Given the description of an element on the screen output the (x, y) to click on. 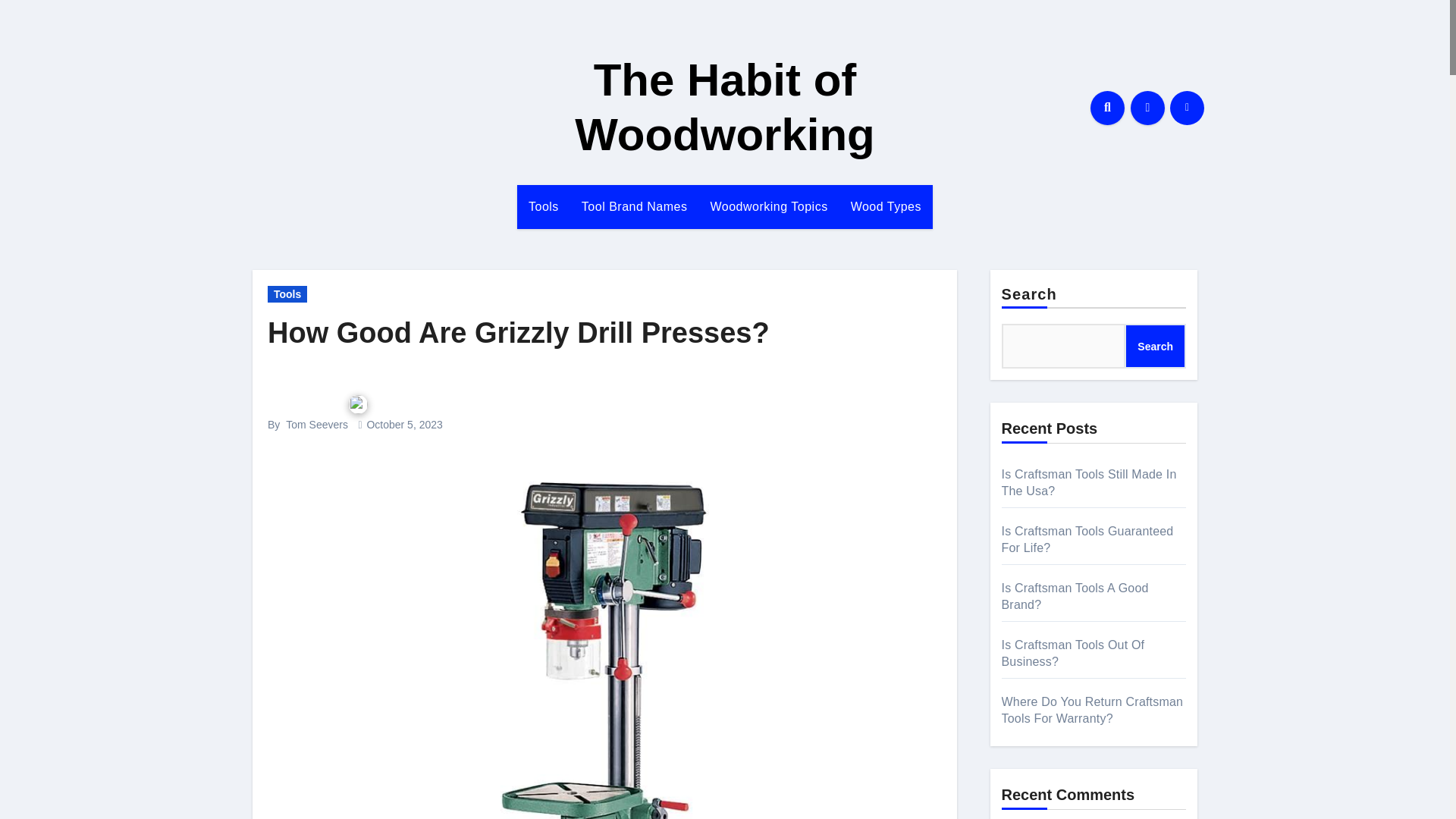
Tools (287, 293)
October 5, 2023 (404, 424)
Woodworking Topics (768, 207)
Wood Types (886, 207)
Woodworking Topics (768, 207)
Tools (543, 207)
Permalink to: How Good Are Grizzly Drill Presses? (518, 332)
The Habit of Woodworking (725, 106)
Tools (543, 207)
Tom Seevers (316, 424)
Tool Brand Names (634, 207)
Wood Types (886, 207)
How Good Are Grizzly Drill Presses? (518, 332)
Tool Brand Names (634, 207)
